Given the description of an element on the screen output the (x, y) to click on. 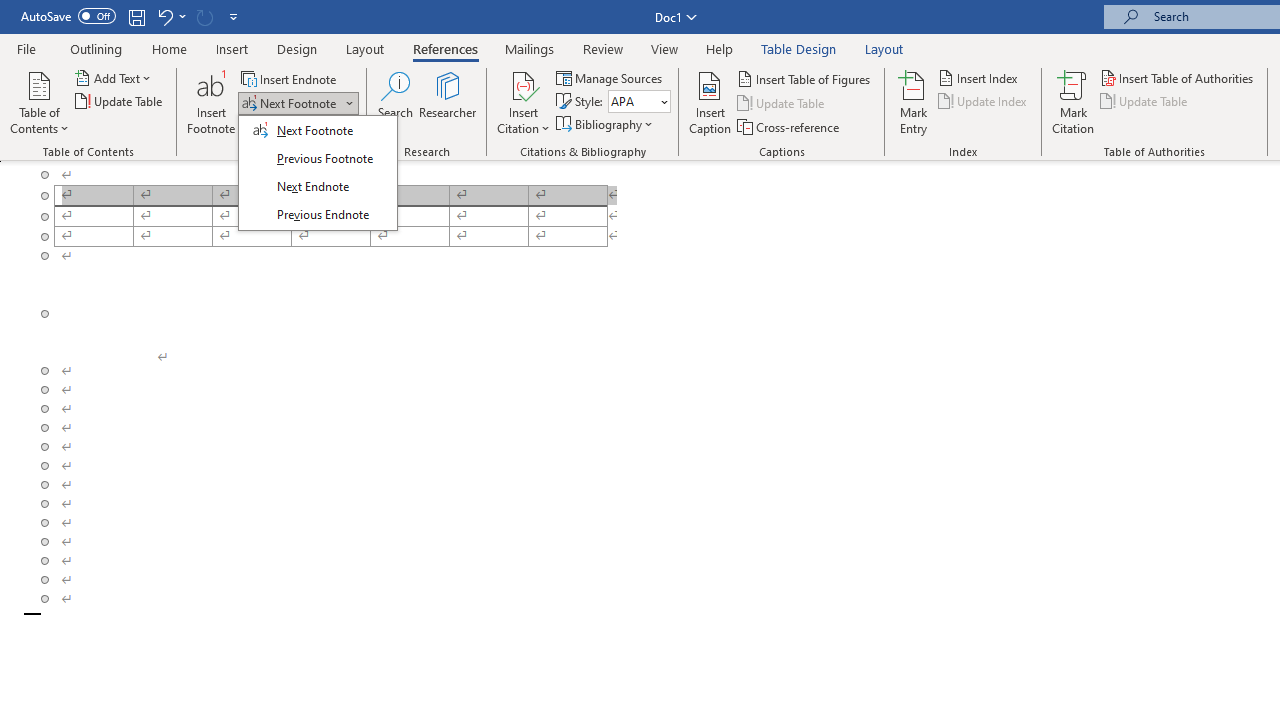
Undo Outline Move Up (164, 15)
Next Footnote (298, 103)
Add Text (114, 78)
Insert Table of Figures... (804, 78)
Style (639, 101)
Insert Citation (523, 102)
Insert Caption... (710, 102)
Update Index (984, 101)
Mark Citation... (1072, 102)
Outlining (95, 48)
Can't Repeat (204, 15)
